Given the description of an element on the screen output the (x, y) to click on. 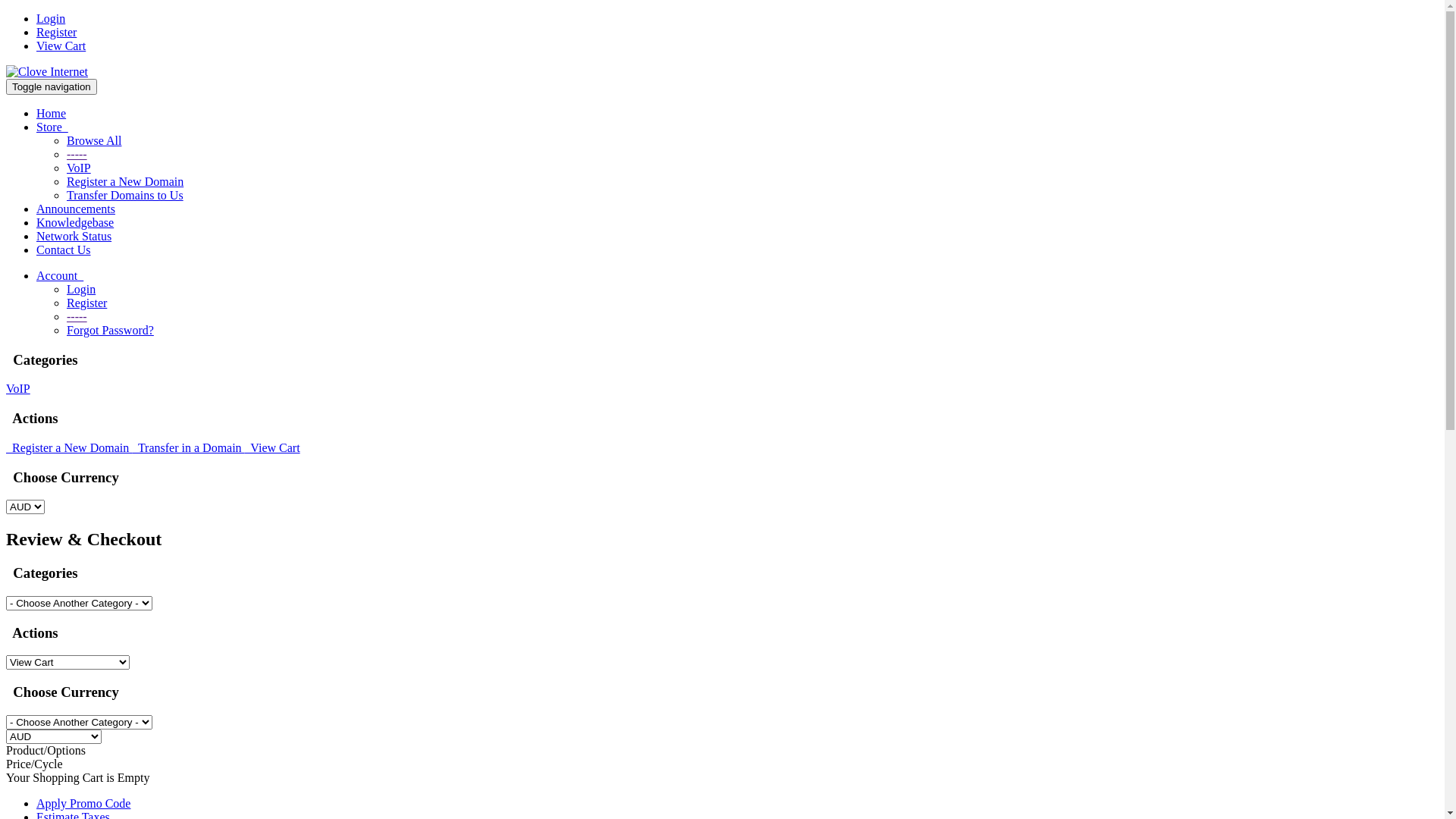
Transfer Domains to Us Element type: text (124, 194)
  Register a New Domain Element type: text (68, 447)
VoIP Element type: text (78, 167)
Home Element type: text (50, 112)
VoIP Element type: text (18, 388)
Register a New Domain Element type: text (124, 181)
  View Cart Element type: text (272, 447)
View Cart Element type: text (60, 45)
  Transfer in a Domain Element type: text (187, 447)
Account   Element type: text (59, 275)
Store   Element type: text (52, 126)
Announcements Element type: text (75, 208)
Apply Promo Code Element type: text (83, 803)
Forgot Password? Element type: text (109, 329)
Browse All Element type: text (93, 140)
Knowledgebase Element type: text (74, 222)
Network Status Element type: text (73, 235)
Register Element type: text (56, 31)
Register Element type: text (86, 302)
Toggle navigation Element type: text (51, 86)
Contact Us Element type: text (63, 249)
----- Element type: text (76, 153)
----- Element type: text (76, 316)
Login Element type: text (50, 18)
Login Element type: text (80, 288)
